Given the description of an element on the screen output the (x, y) to click on. 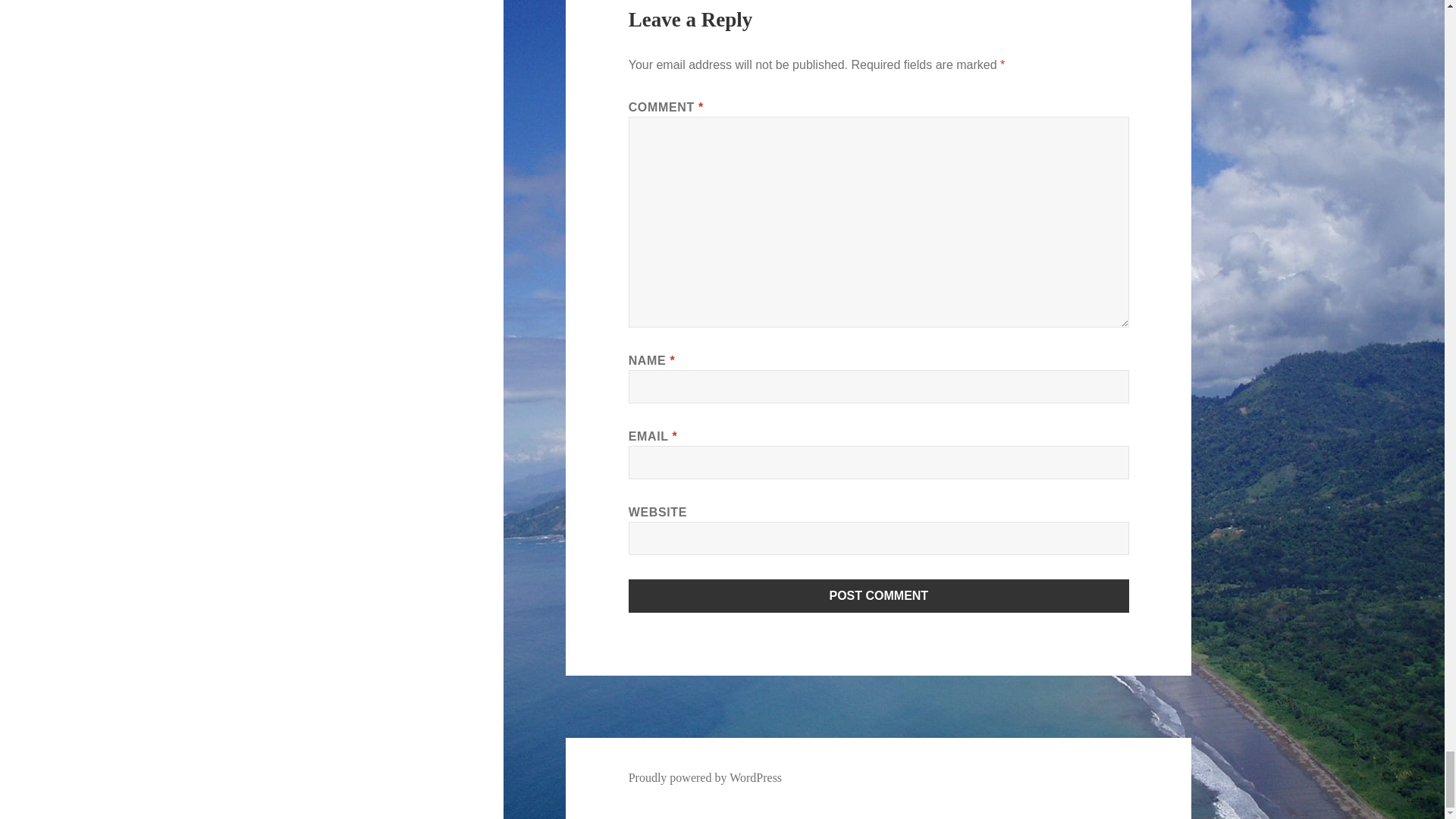
Post Comment (878, 595)
